Given the description of an element on the screen output the (x, y) to click on. 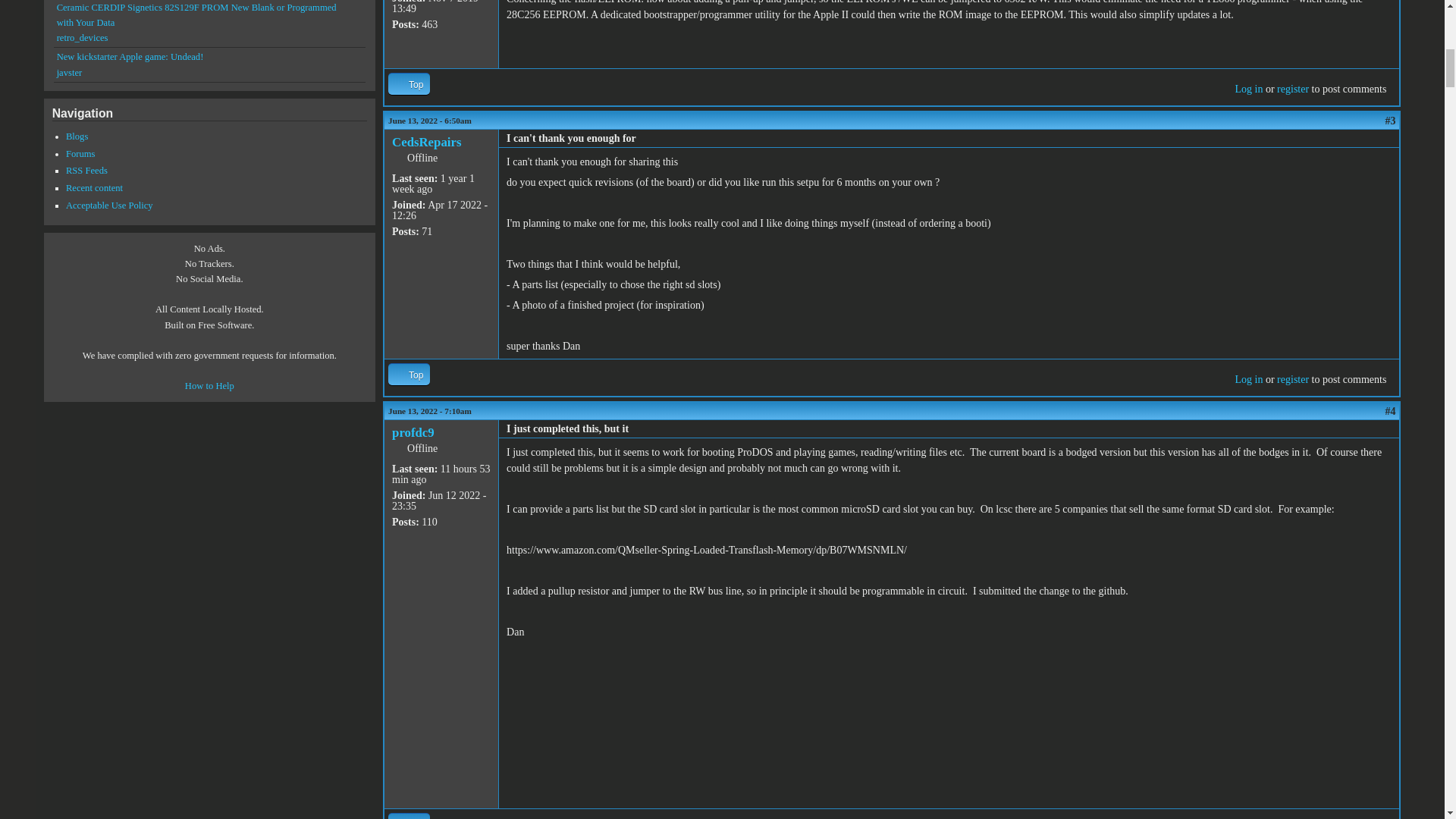
CedsRepairs (426, 142)
Top (408, 816)
register (1292, 89)
Top (408, 83)
View user profile. (412, 432)
Log in (1248, 89)
View user profile. (426, 142)
profdc9 (412, 432)
Jump to top of page (408, 83)
Top (408, 373)
register (1292, 378)
Jump to top of page (408, 816)
Log in (1248, 378)
Jump to top of page (408, 373)
